Given the description of an element on the screen output the (x, y) to click on. 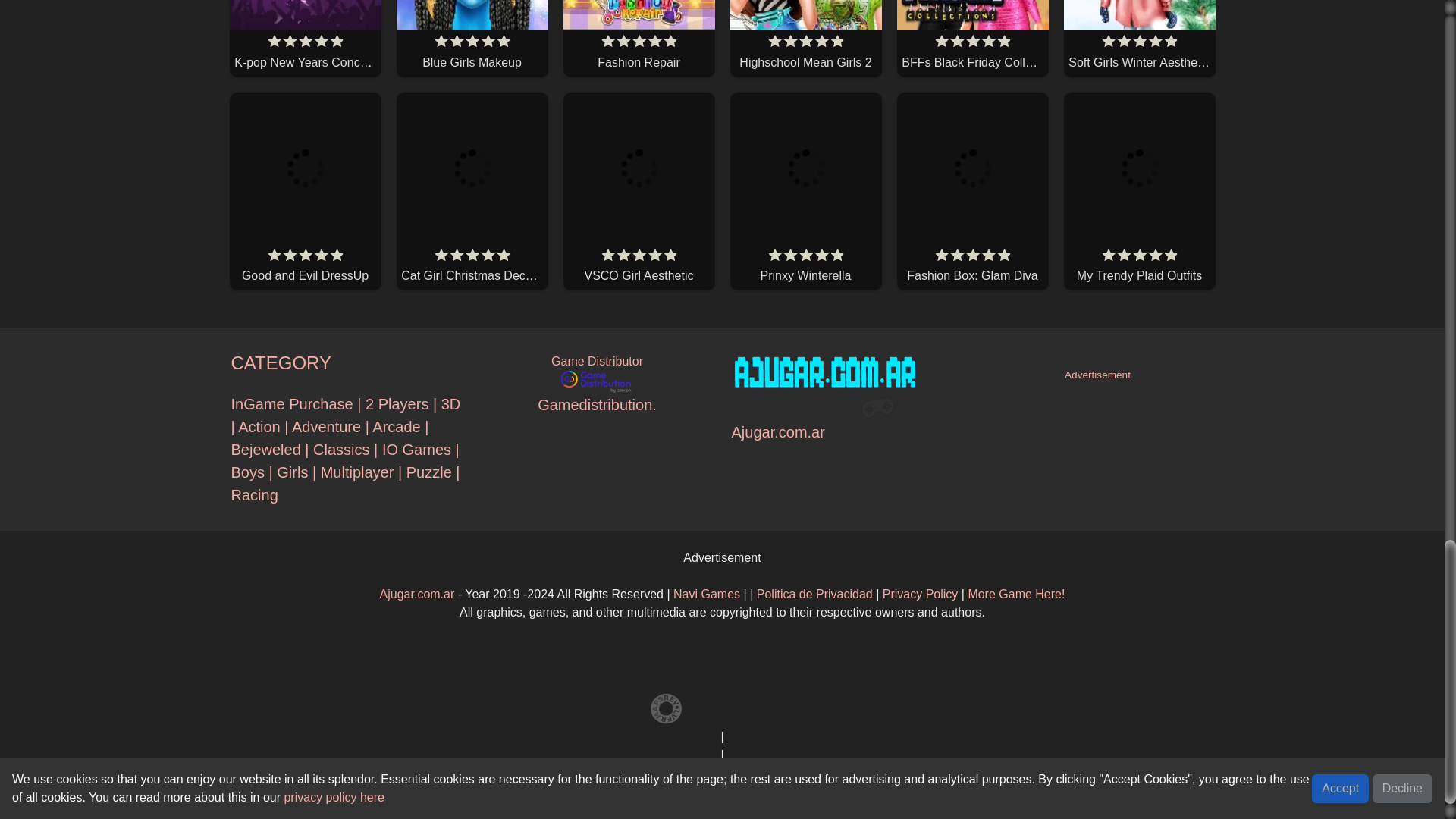
Ajugar (814, 594)
Ajugar (920, 594)
Navi Games (705, 594)
Ajugar (417, 594)
